Given the description of an element on the screen output the (x, y) to click on. 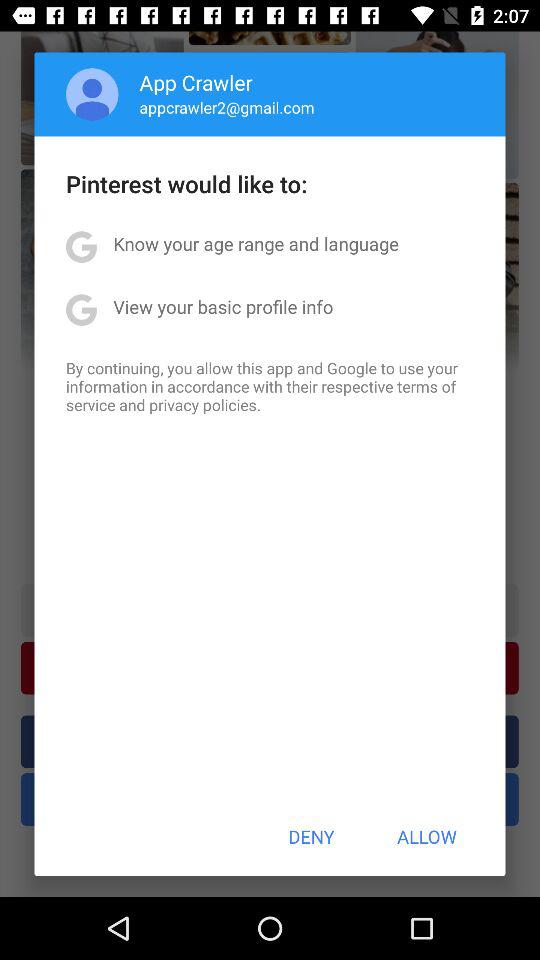
turn off the deny item (311, 836)
